Given the description of an element on the screen output the (x, y) to click on. 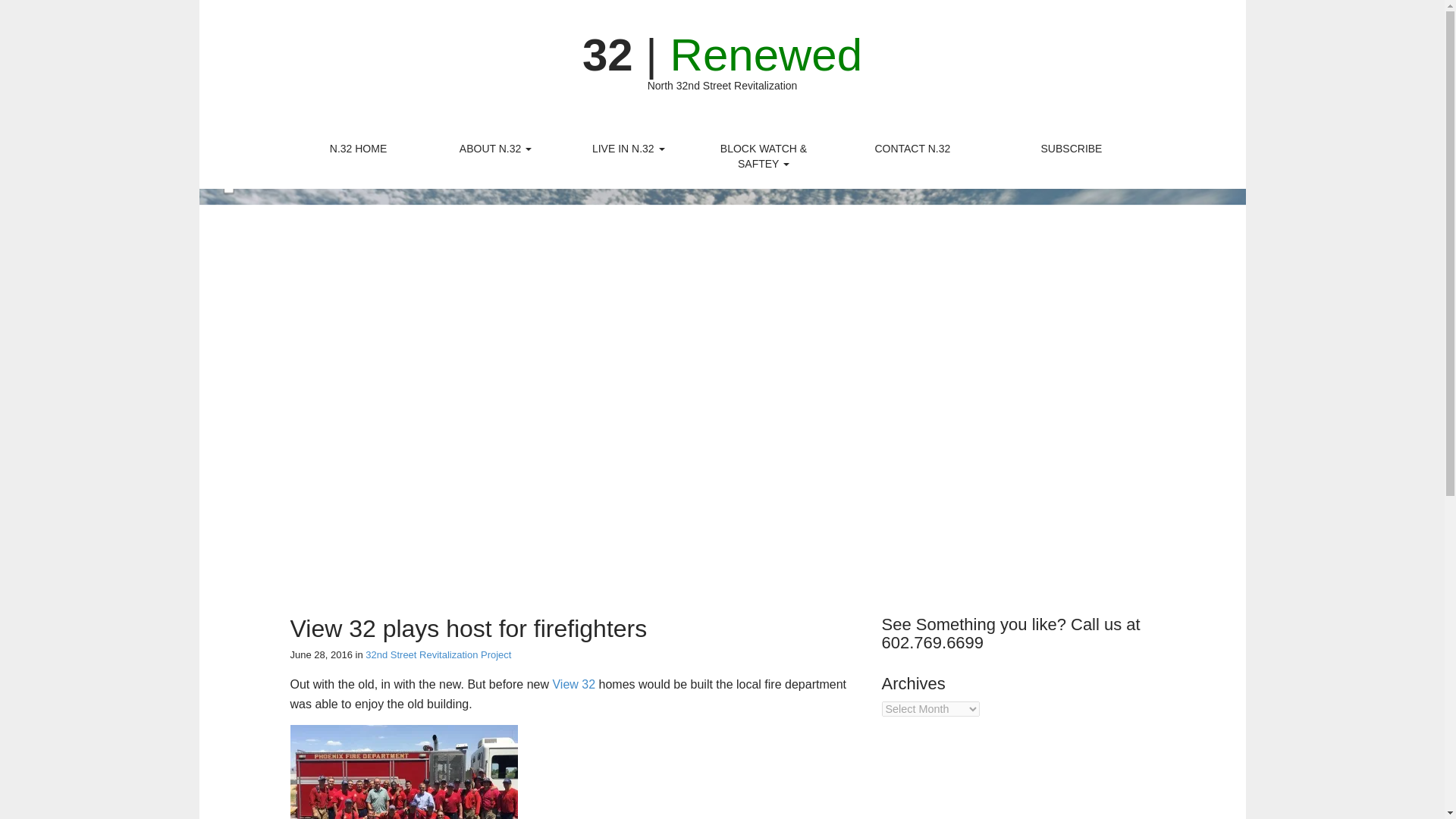
32nd Street Revitalization Project (438, 654)
LIVE IN N.32 (628, 149)
SUBSCRIBE (1070, 149)
ABOUT N.32 (496, 149)
June 28, 2016 (320, 654)
View 32 (573, 684)
N.32 HOME (358, 149)
CONTACT N.32 (911, 149)
